Given the description of an element on the screen output the (x, y) to click on. 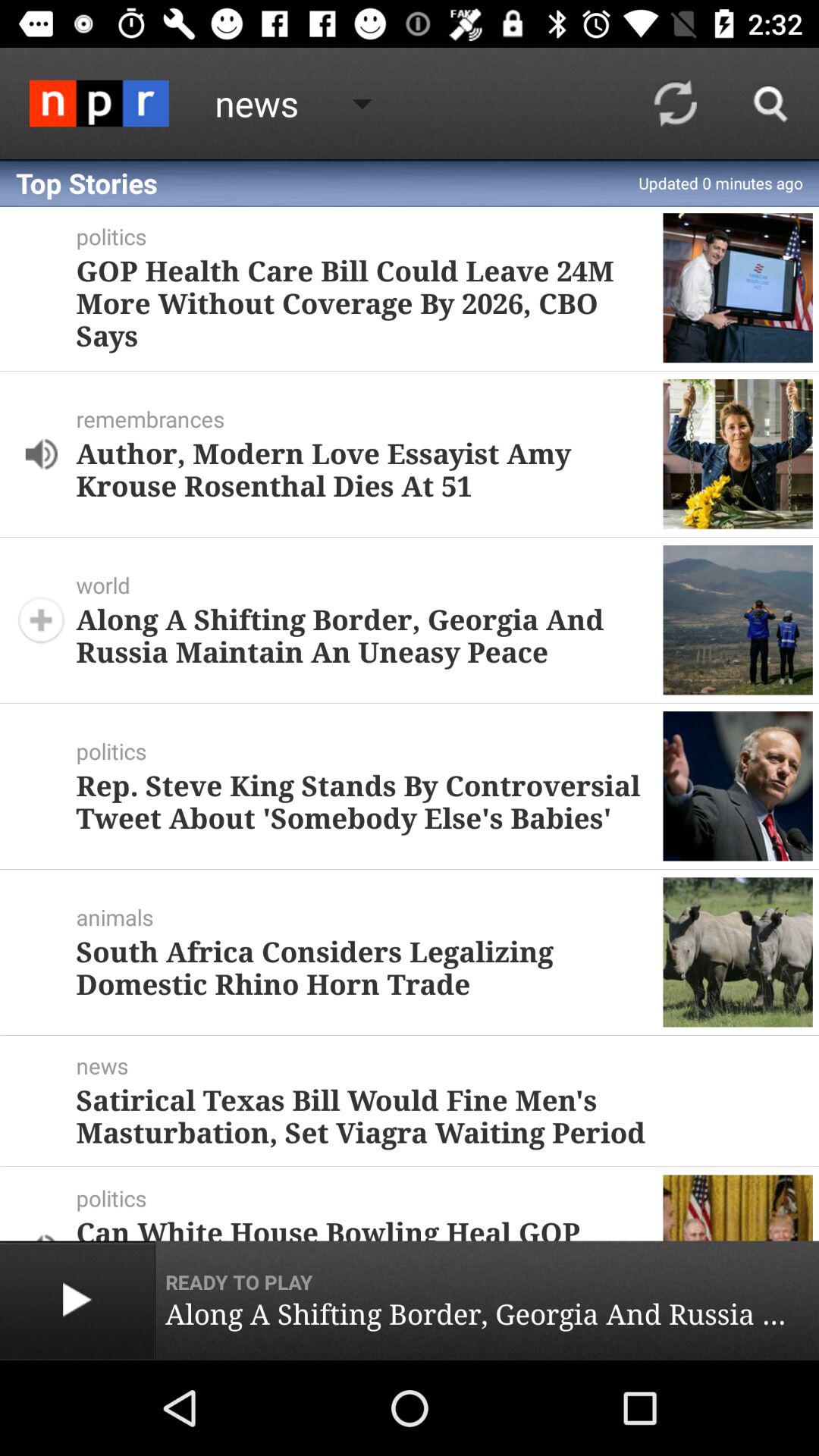
choose the icon next to the news icon (98, 103)
